Given the description of an element on the screen output the (x, y) to click on. 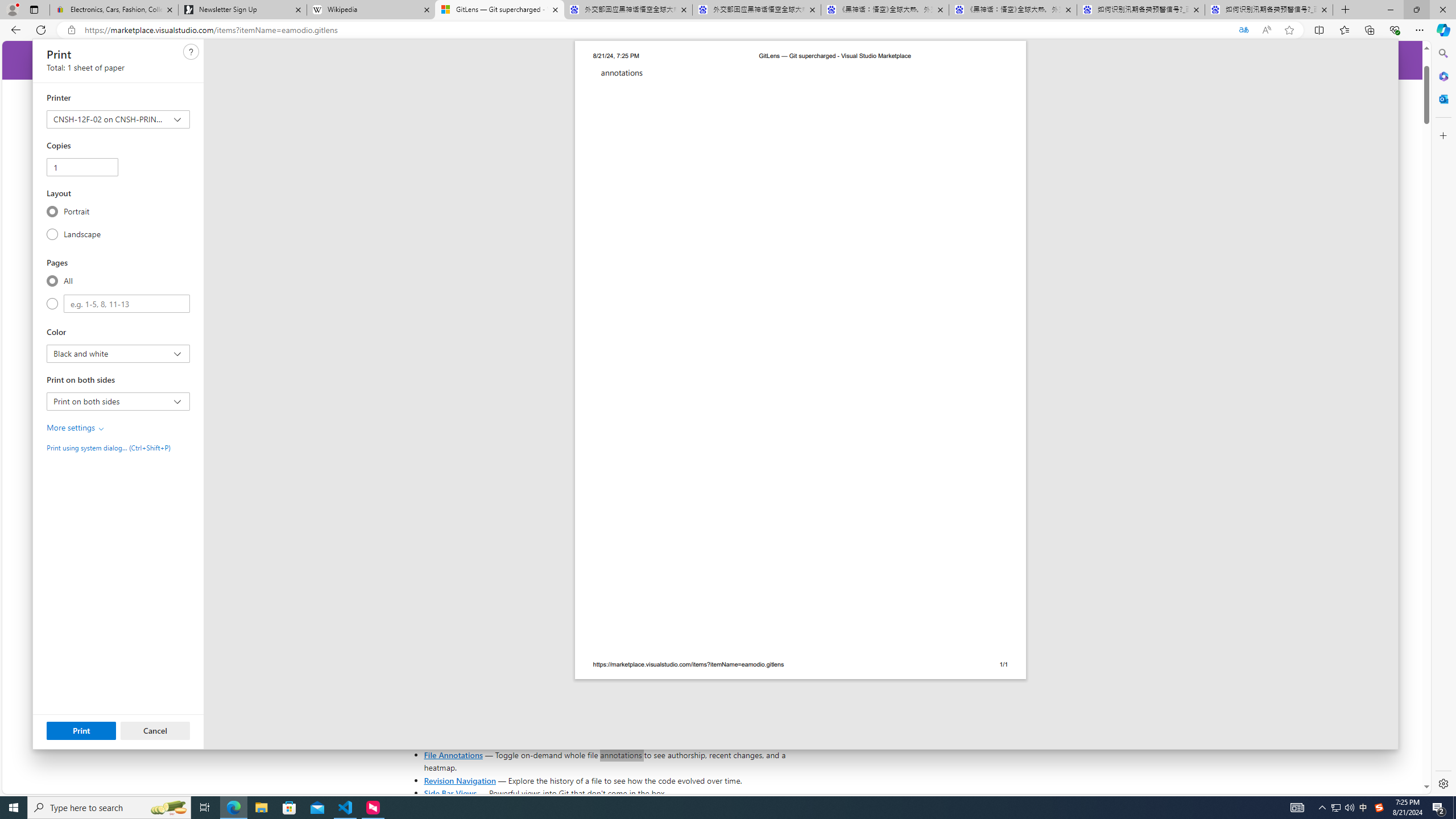
Color Black and white (117, 353)
Custom (52, 303)
Printer CNSH-12F-02 on CNSH-PRINT-01 (117, 119)
More settings (76, 427)
Copies (81, 167)
All (52, 280)
Class: c0183 (101, 428)
Print on both sides Print on both sides (117, 401)
Landscape (52, 233)
Class: c0129 (190, 51)
Cancel (154, 730)
Print (81, 730)
Portrait (52, 211)
